Given the description of an element on the screen output the (x, y) to click on. 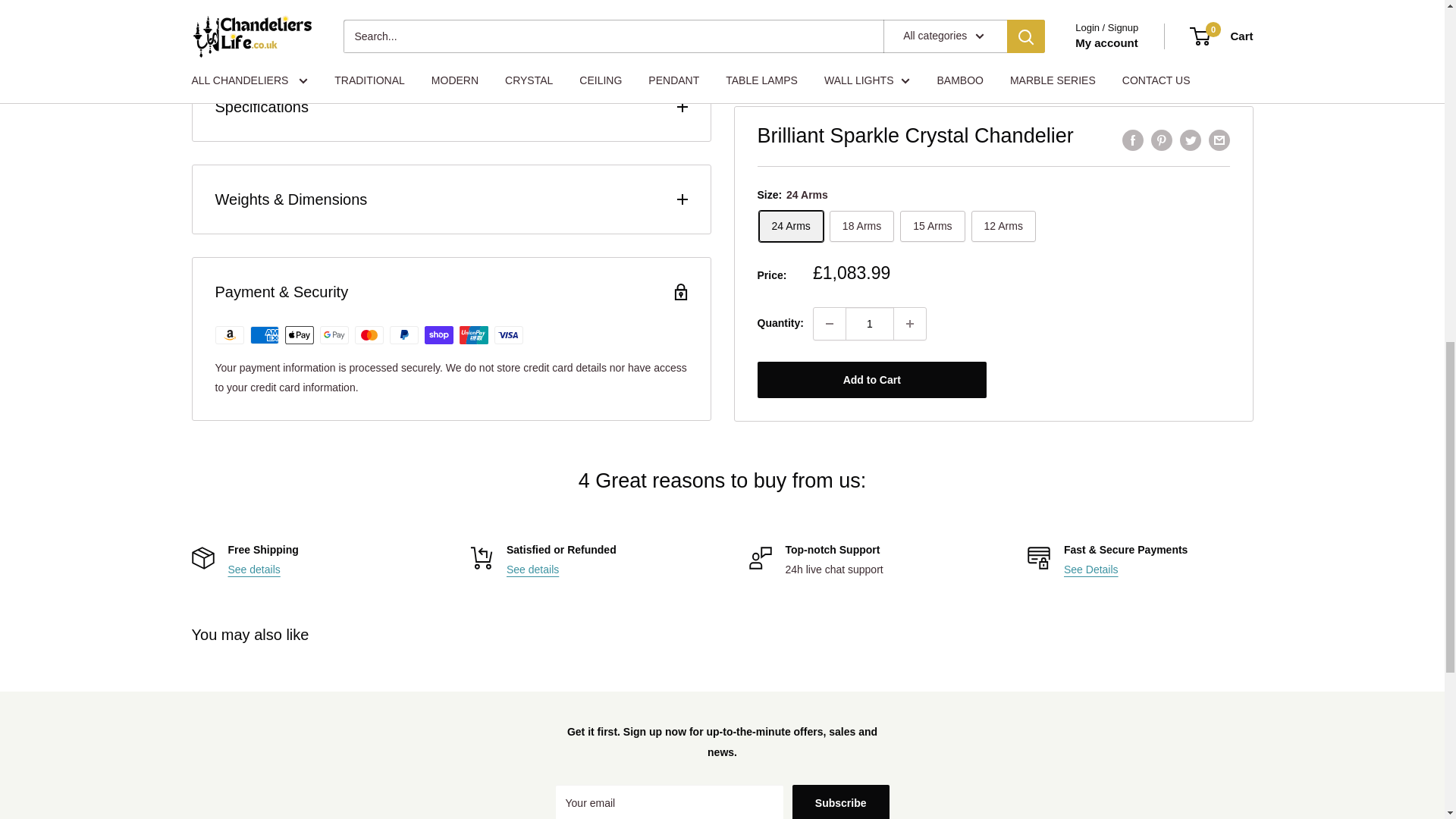
Shipping policy (253, 569)
Payment methods (1091, 569)
Refund Policy (532, 569)
